Given the description of an element on the screen output the (x, y) to click on. 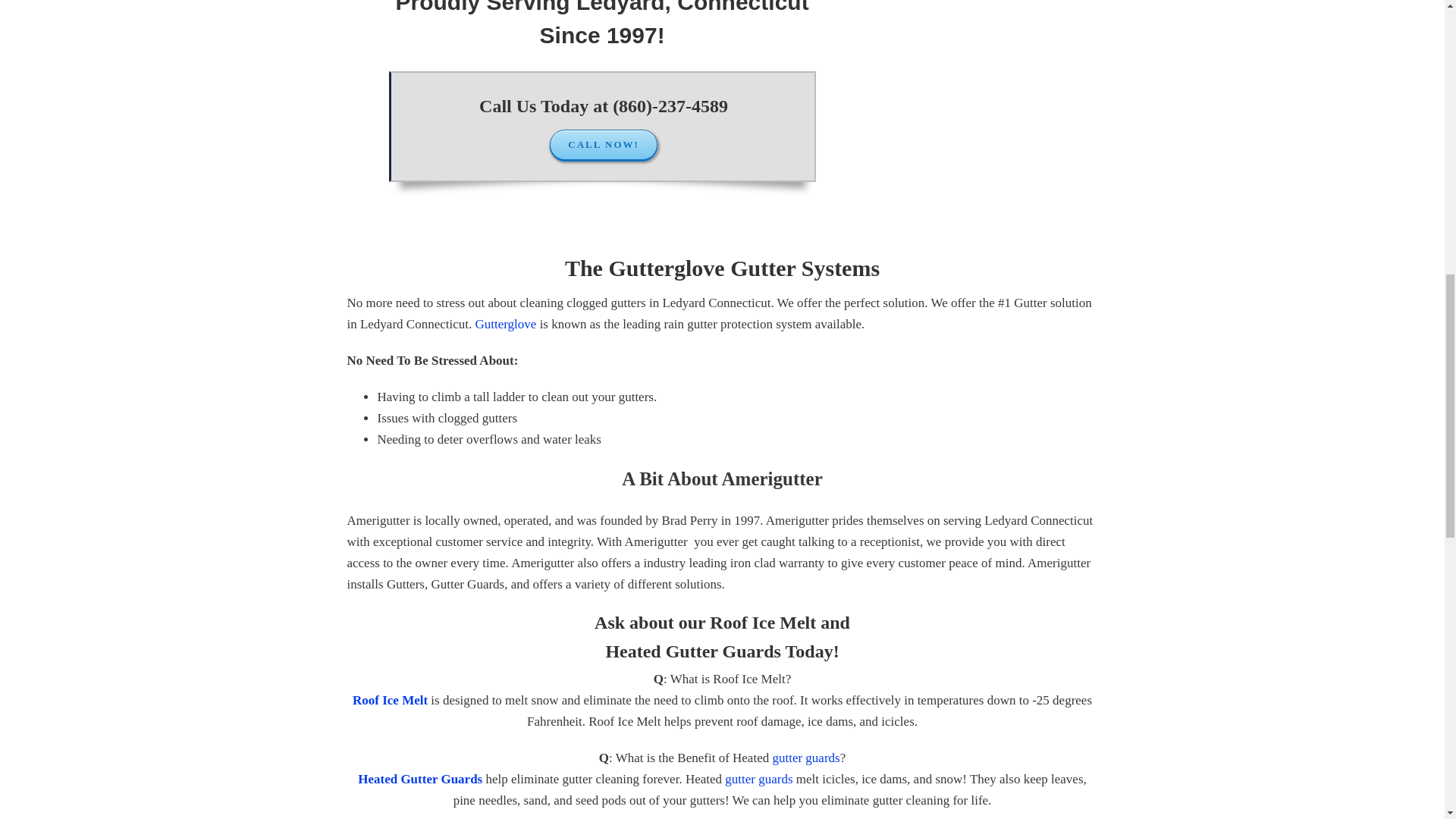
gutter guards (805, 757)
gutter guards (758, 779)
